Given the description of an element on the screen output the (x, y) to click on. 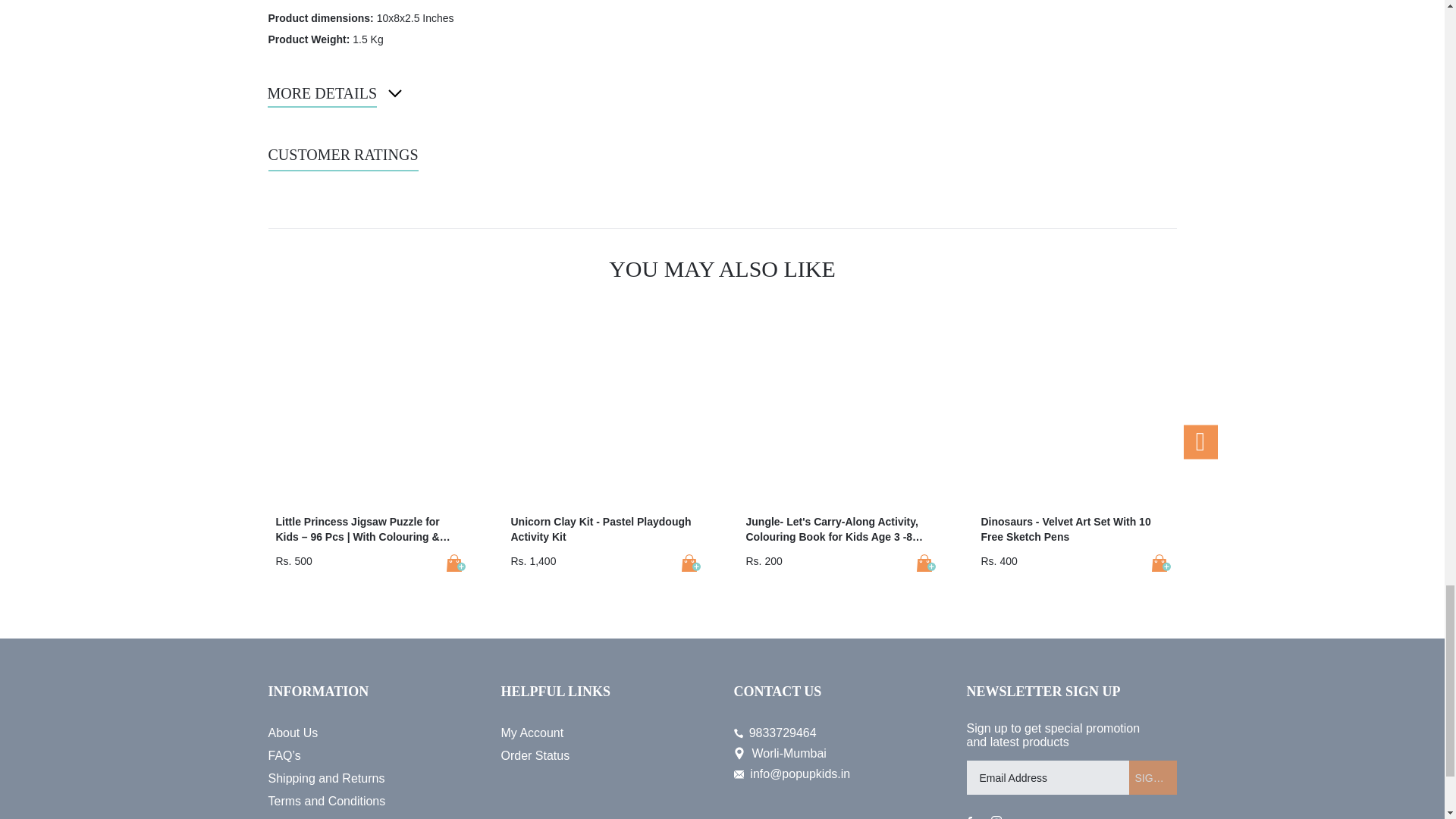
Dinosaurs - Velvet Art Set With 10 Free Sketch Pens (1160, 562)
Sign up (1152, 777)
Unicorn Clay Kit - Pastel Playdough Activity Kit (690, 562)
